Given the description of an element on the screen output the (x, y) to click on. 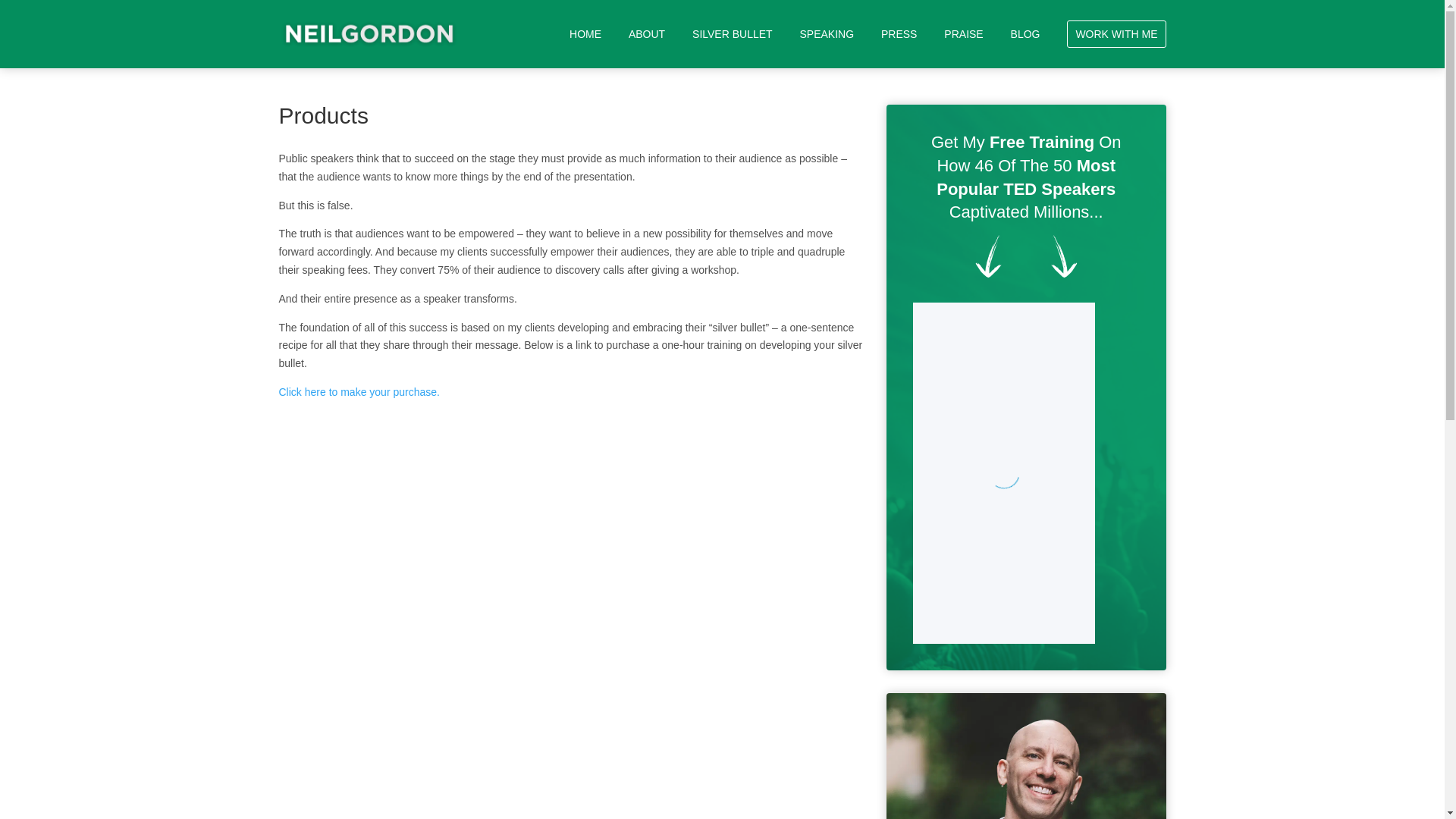
SPEAKING (826, 47)
Click here to make your purchase. (359, 391)
PRAISE (962, 47)
PRESS (898, 47)
SILVER BULLET (733, 47)
ABOUT (646, 47)
WORK WITH ME (1116, 33)
